Given the description of an element on the screen output the (x, y) to click on. 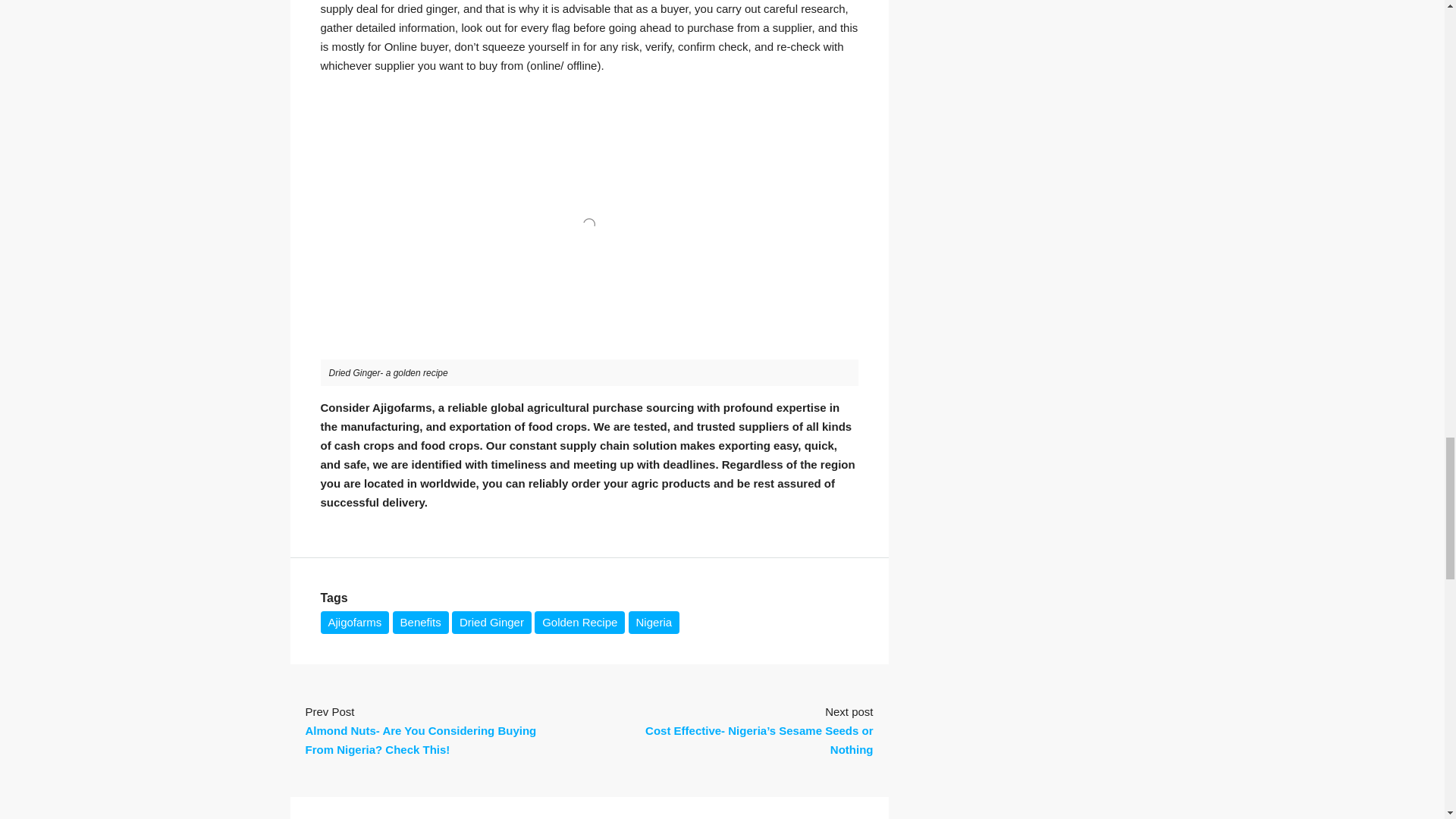
Nigeria (653, 621)
Ajigofarms (354, 621)
Benefits (420, 621)
Golden Recipe (579, 621)
Dried Ginger (491, 621)
